Given the description of an element on the screen output the (x, y) to click on. 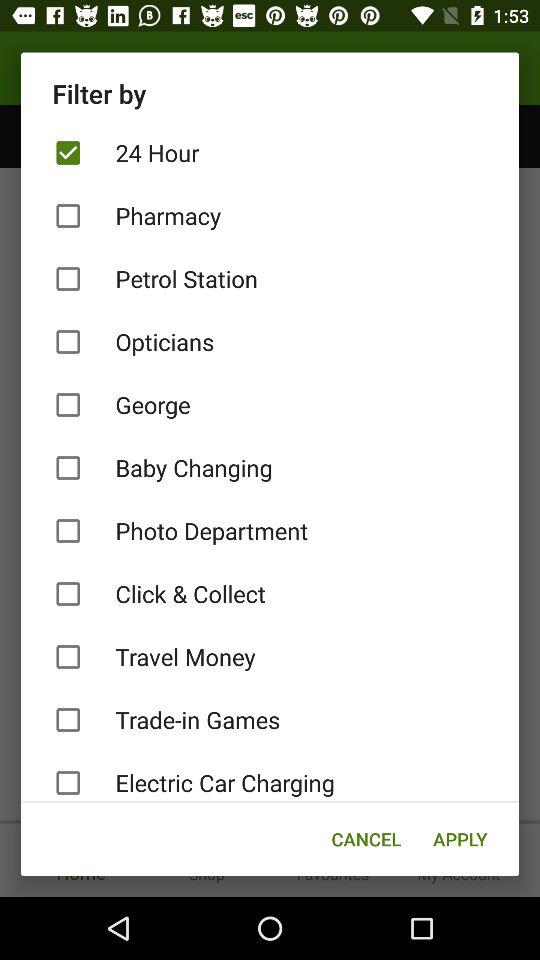
turn off the item below the george item (270, 467)
